Given the description of an element on the screen output the (x, y) to click on. 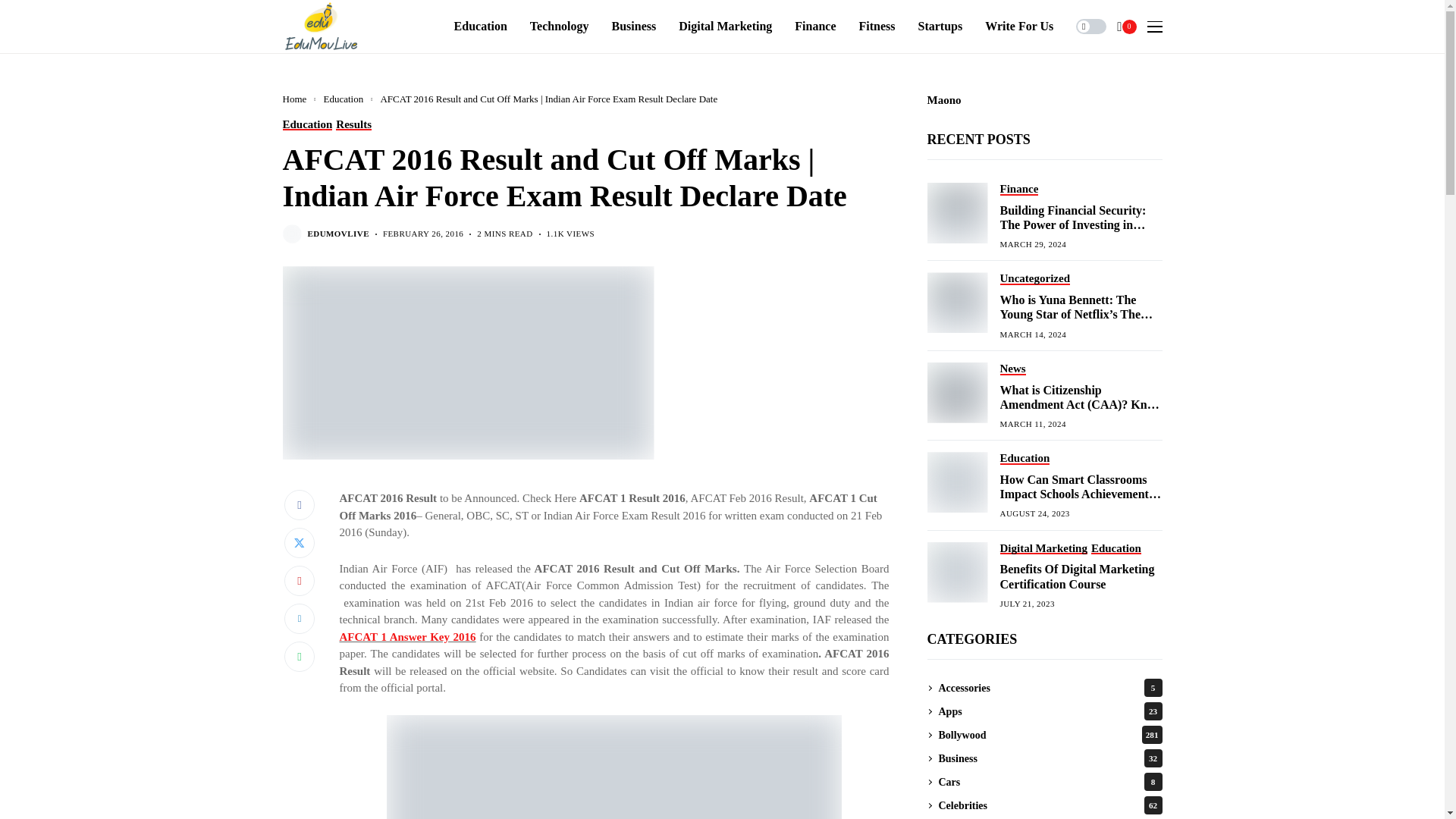
Write For Us (1018, 26)
Posts by edumovlive (338, 234)
Technology (559, 26)
Education (480, 26)
Digital Marketing (724, 26)
